Given the description of an element on the screen output the (x, y) to click on. 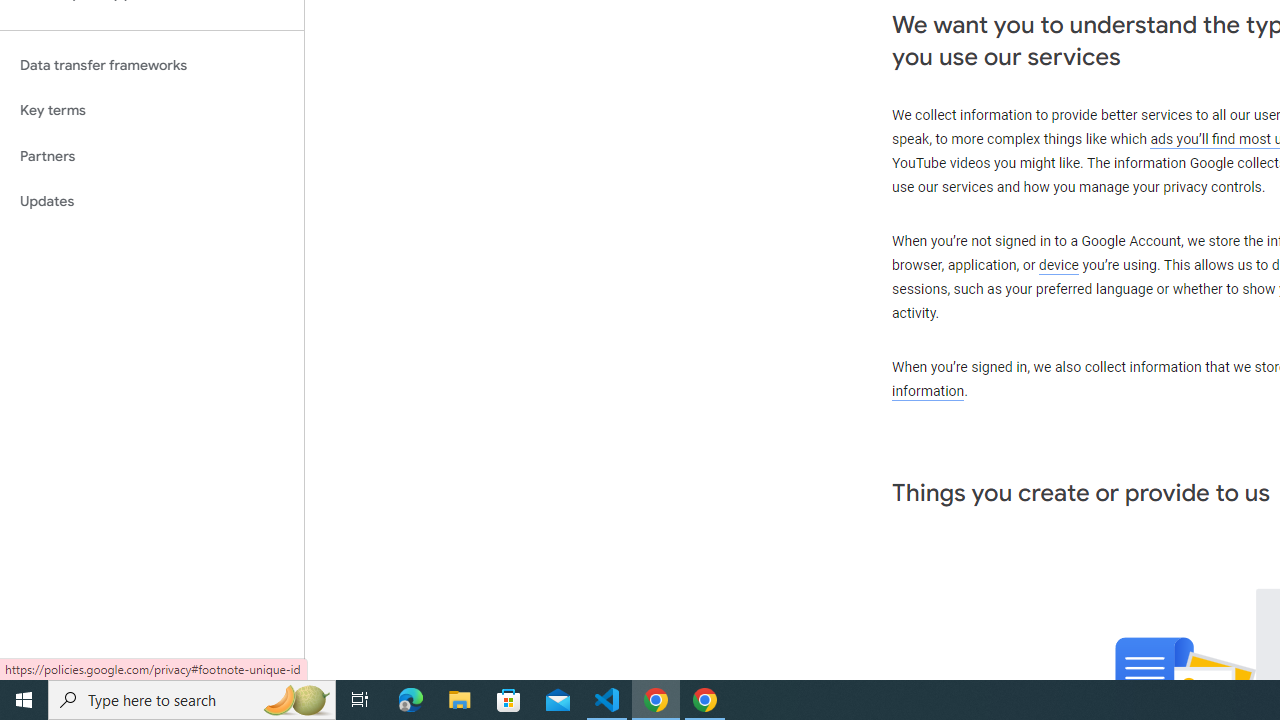
device (1059, 265)
